Given the description of an element on the screen output the (x, y) to click on. 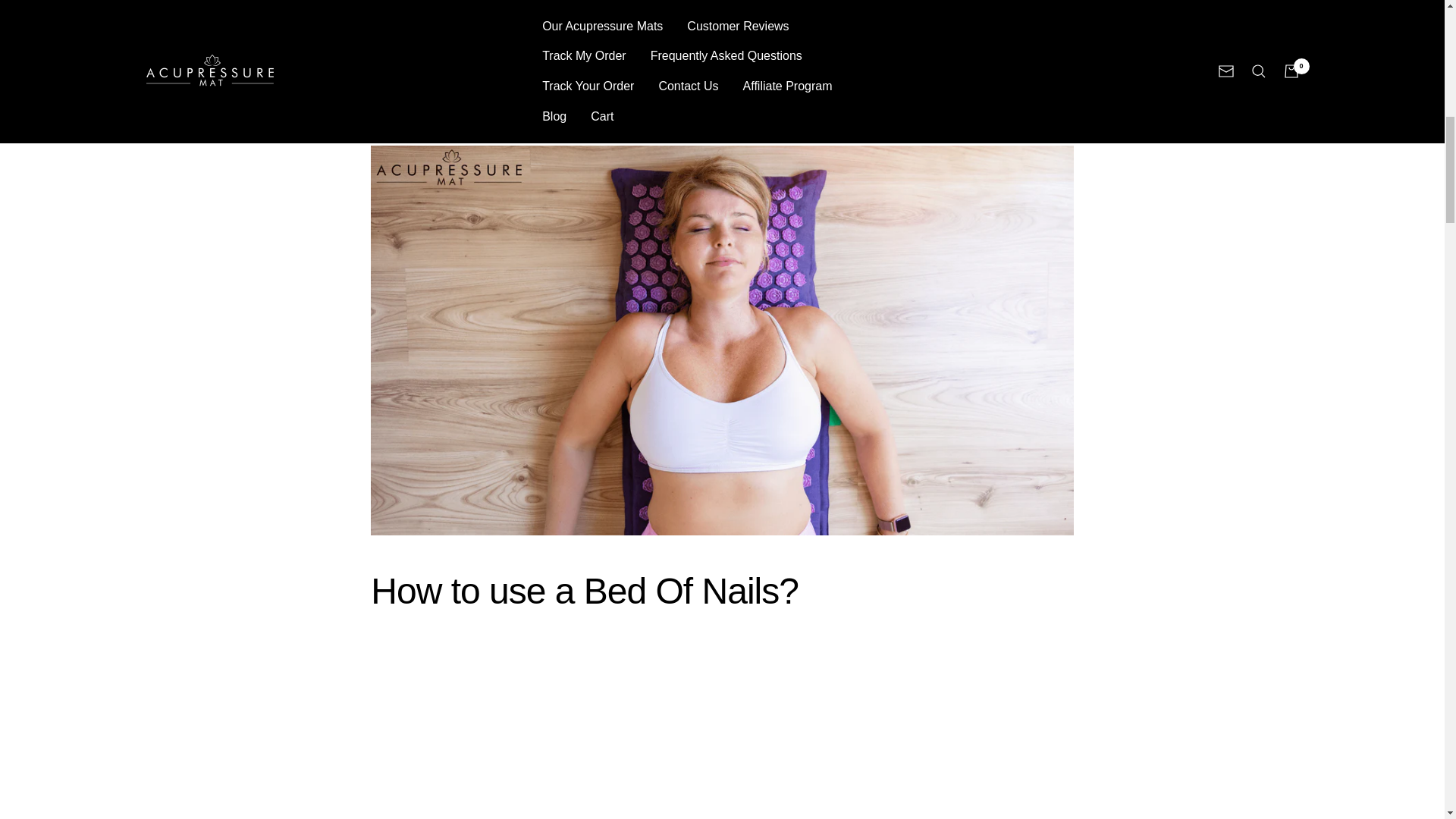
YouTube video player (722, 724)
